Given the description of an element on the screen output the (x, y) to click on. 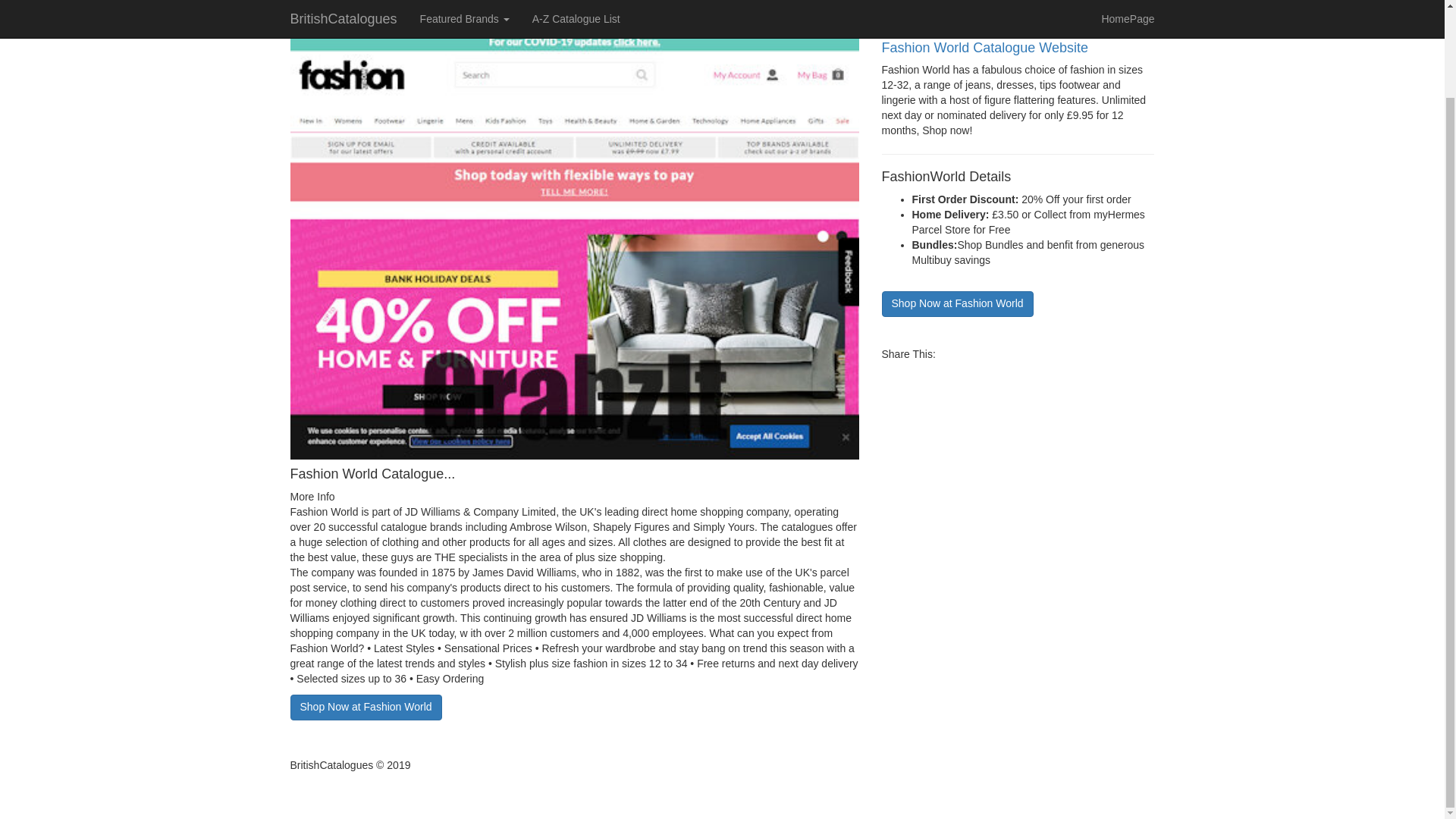
Shop Now at Fashion World (956, 303)
Fashion World Website Home Page Image (574, 245)
Shop Now at Fashion World (365, 705)
Shop Now at Fashion World (365, 707)
Shop Now at Fashion World (956, 303)
Fashion World Catalogue Website (1017, 48)
